Given the description of an element on the screen output the (x, y) to click on. 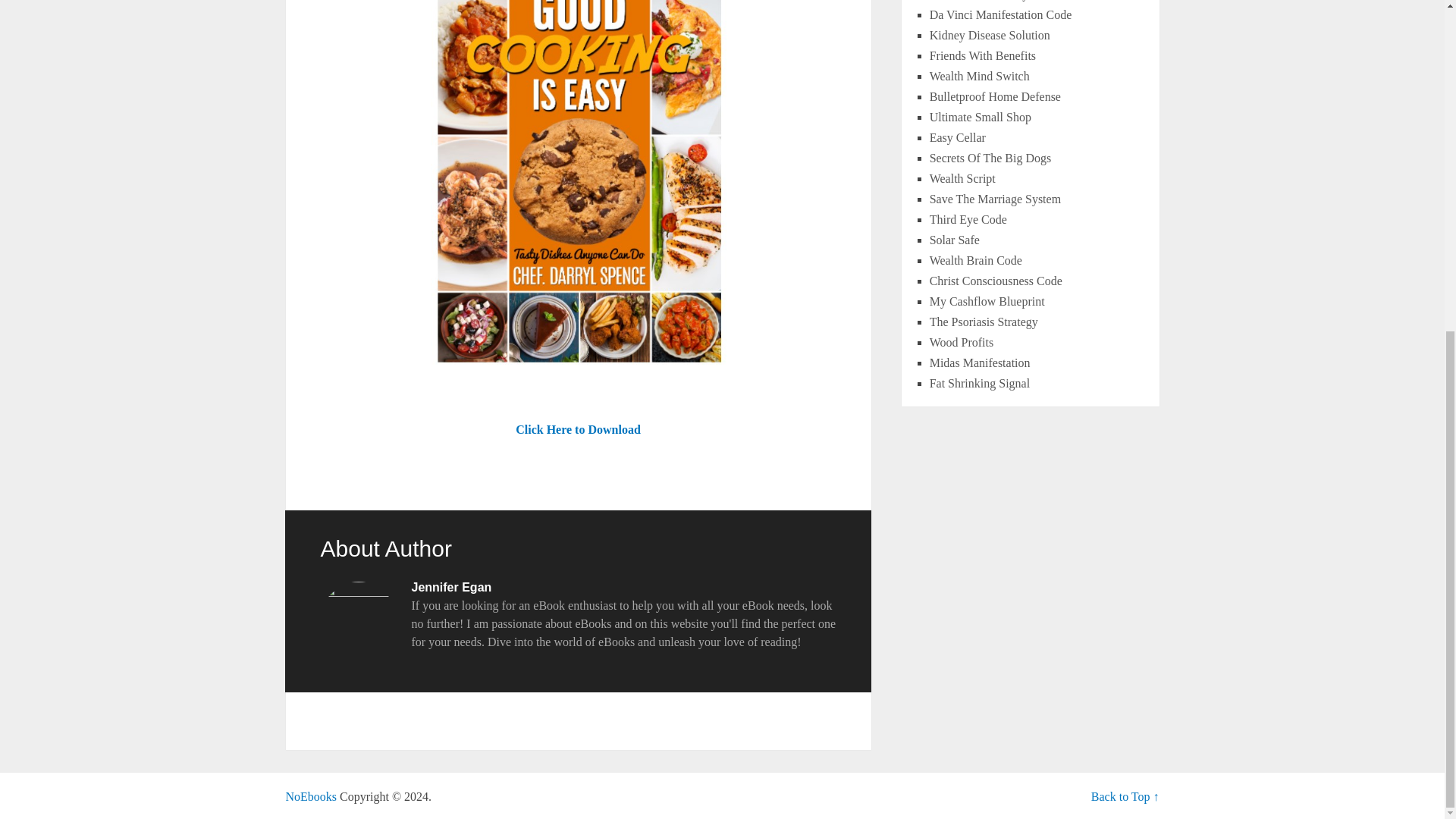
Third Eye Code (968, 219)
Click Here to Download (577, 429)
Wealth Script (962, 178)
Wealth Mind Switch (979, 75)
Wealth Brain Code (976, 259)
Ultimate Small Shop (980, 116)
Save The Marriage System (995, 198)
Kidney Disease Solution (989, 34)
Bulletproof Home Defense (995, 96)
Secrets Of The Big Dogs (990, 157)
